Given the description of an element on the screen output the (x, y) to click on. 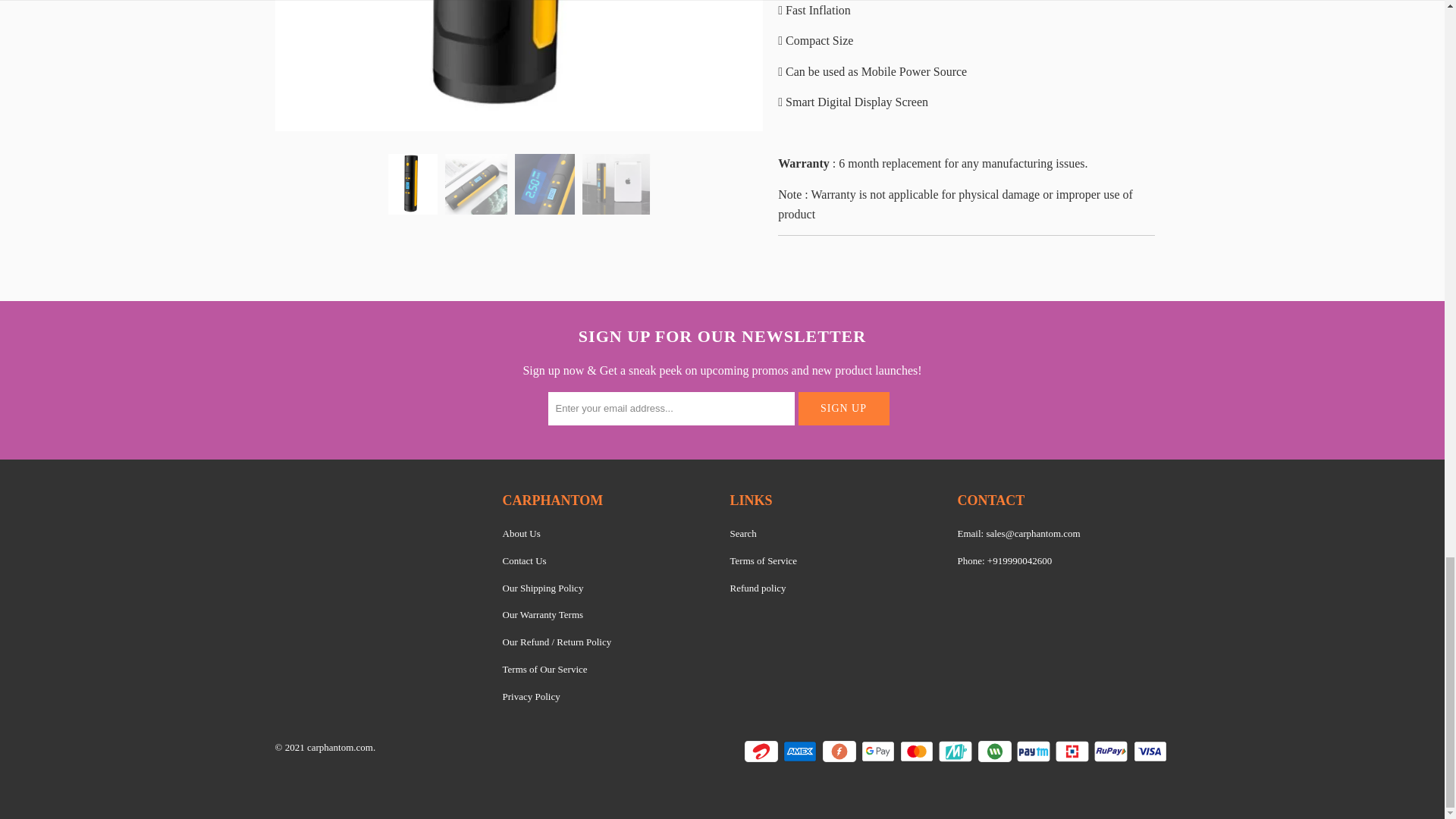
Sign Up (842, 408)
PayZapp (1073, 751)
Airtel Money (762, 751)
Google Pay (879, 751)
MobiKwik (957, 751)
Paytm (1034, 751)
RuPay (1112, 751)
Freecharge (840, 751)
Ola Money (996, 751)
Mastercard (917, 751)
